Given the description of an element on the screen output the (x, y) to click on. 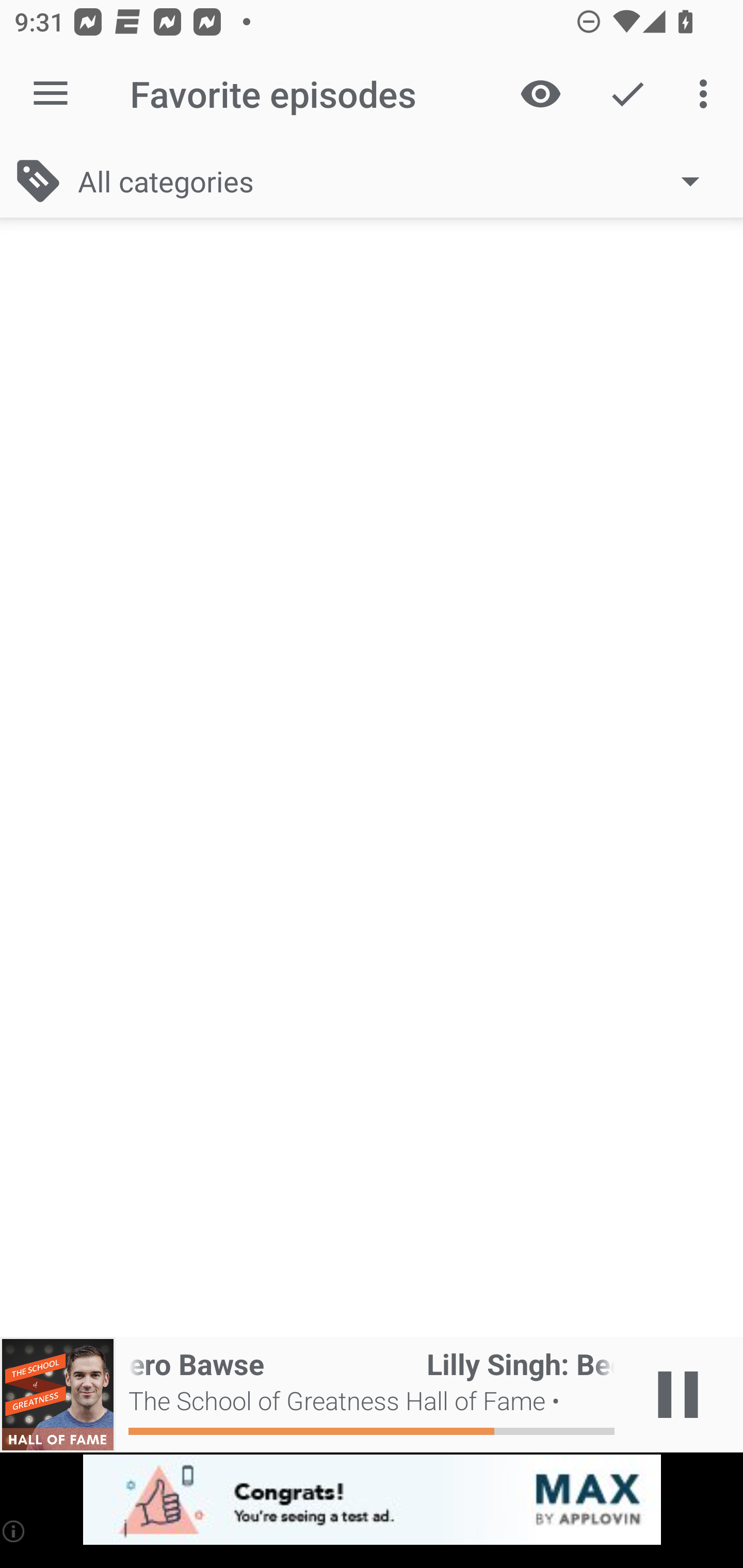
Open navigation sidebar (50, 93)
Show / Hide played content (540, 93)
Action Mode (626, 93)
More options (706, 93)
All categories (398, 180)
Play / Pause (677, 1394)
app-monetization (371, 1500)
(i) (14, 1531)
